Given the description of an element on the screen output the (x, y) to click on. 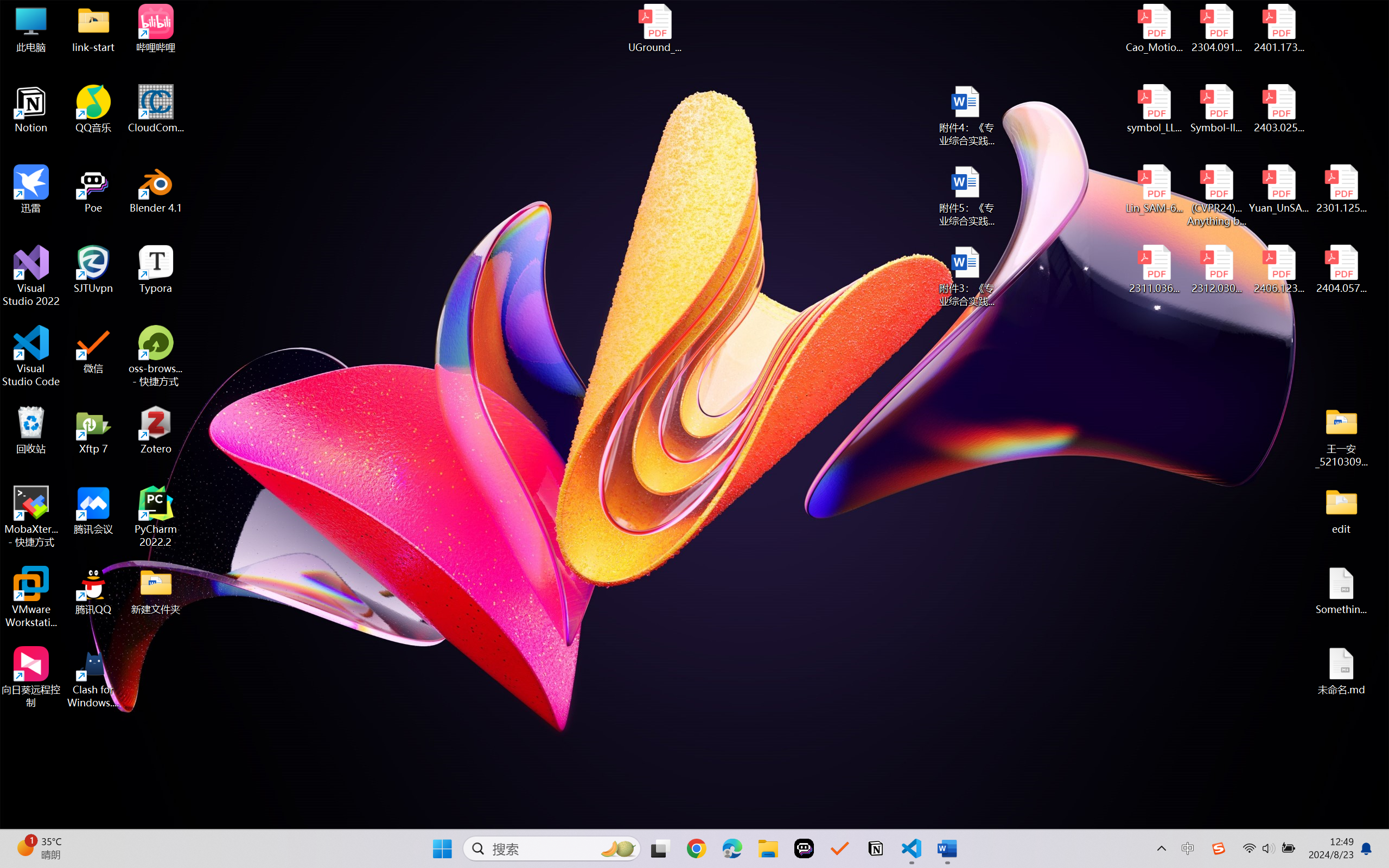
Something.md (1340, 591)
VMware Workstation Pro (31, 597)
Symbol-llm-v2.pdf (1216, 109)
(CVPR24)Matching Anything by Segmenting Anything.pdf (1216, 195)
